Given the description of an element on the screen output the (x, y) to click on. 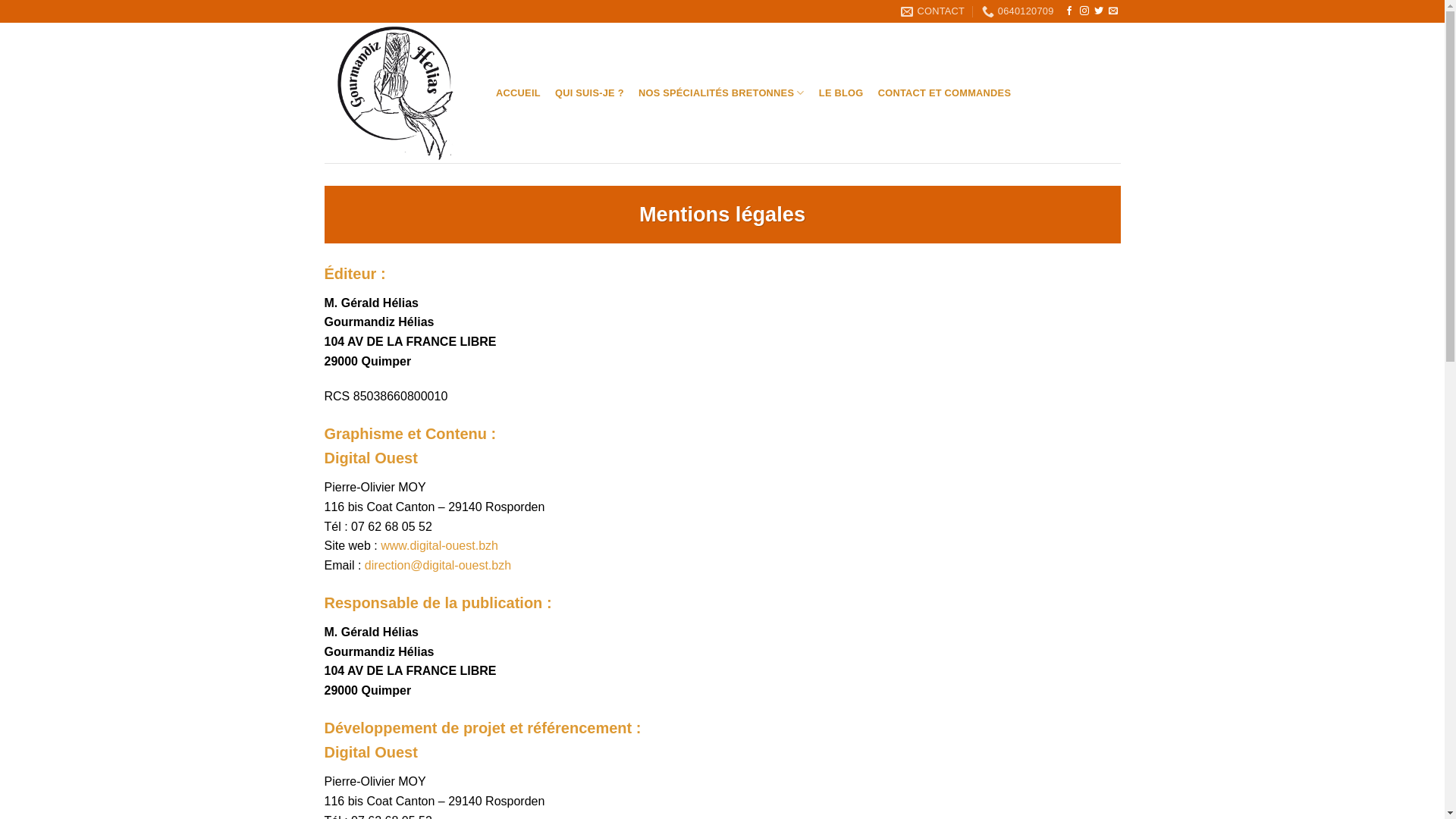
QUI SUIS-JE ? Element type: text (588, 92)
0640120709 Element type: text (1018, 11)
LE BLOG Element type: text (840, 92)
www.digital-ouest.bzh Element type: text (439, 545)
Skip to content Element type: text (0, 0)
ACCUEIL Element type: text (517, 92)
direction@digital-ouest.bzh Element type: text (437, 564)
CONTACT ET COMMANDES Element type: text (944, 92)
CONTACT Element type: text (932, 11)
